Given the description of an element on the screen output the (x, y) to click on. 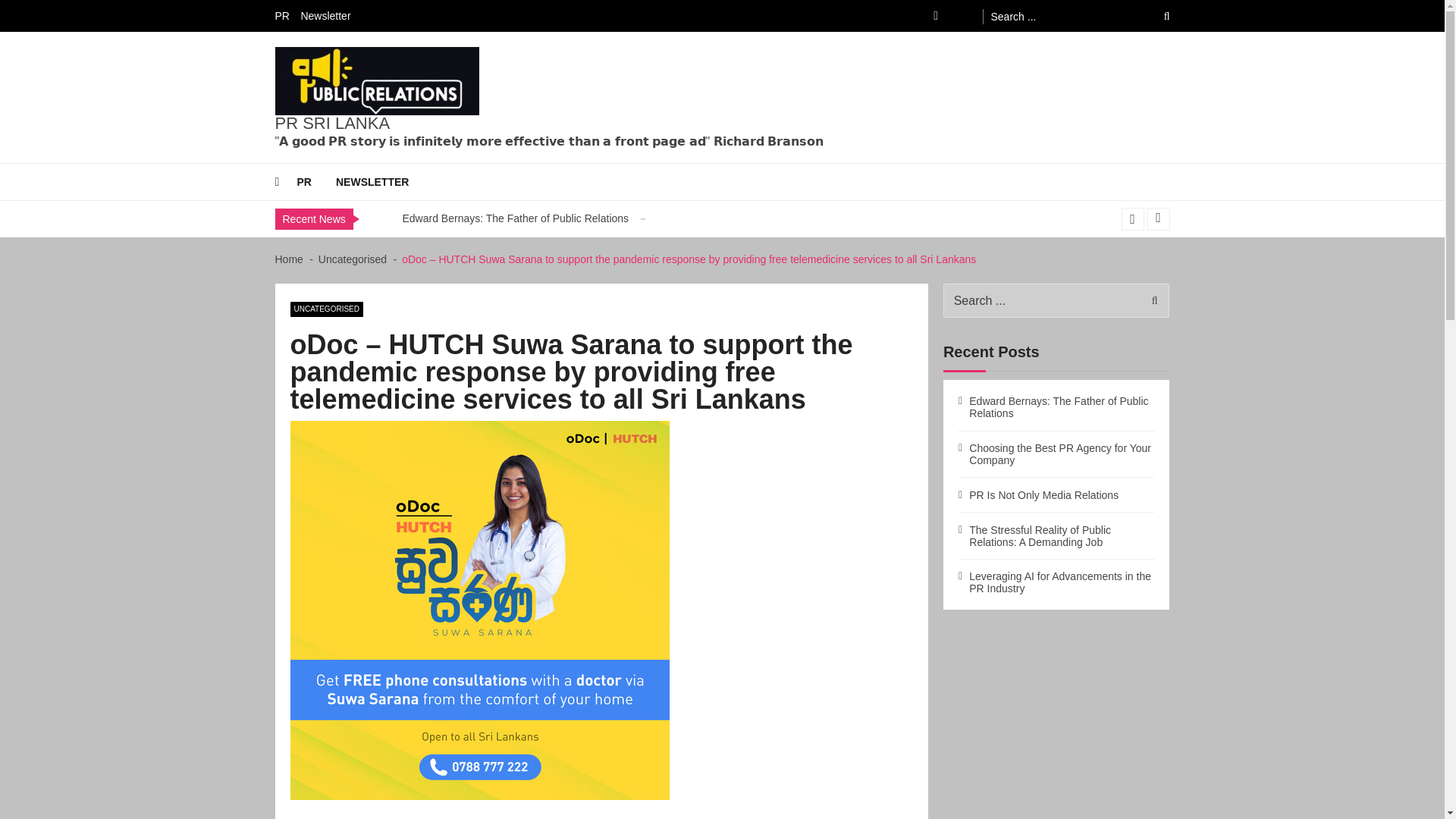
PR (316, 181)
PR (286, 15)
NEWSLETTER (384, 181)
Search (1156, 15)
Search (1156, 15)
Edward Bernays: The Father of Public Relations (514, 218)
Search (1150, 300)
PR SRI LANKA (332, 123)
Search (1156, 15)
Newsletter (328, 15)
